Given the description of an element on the screen output the (x, y) to click on. 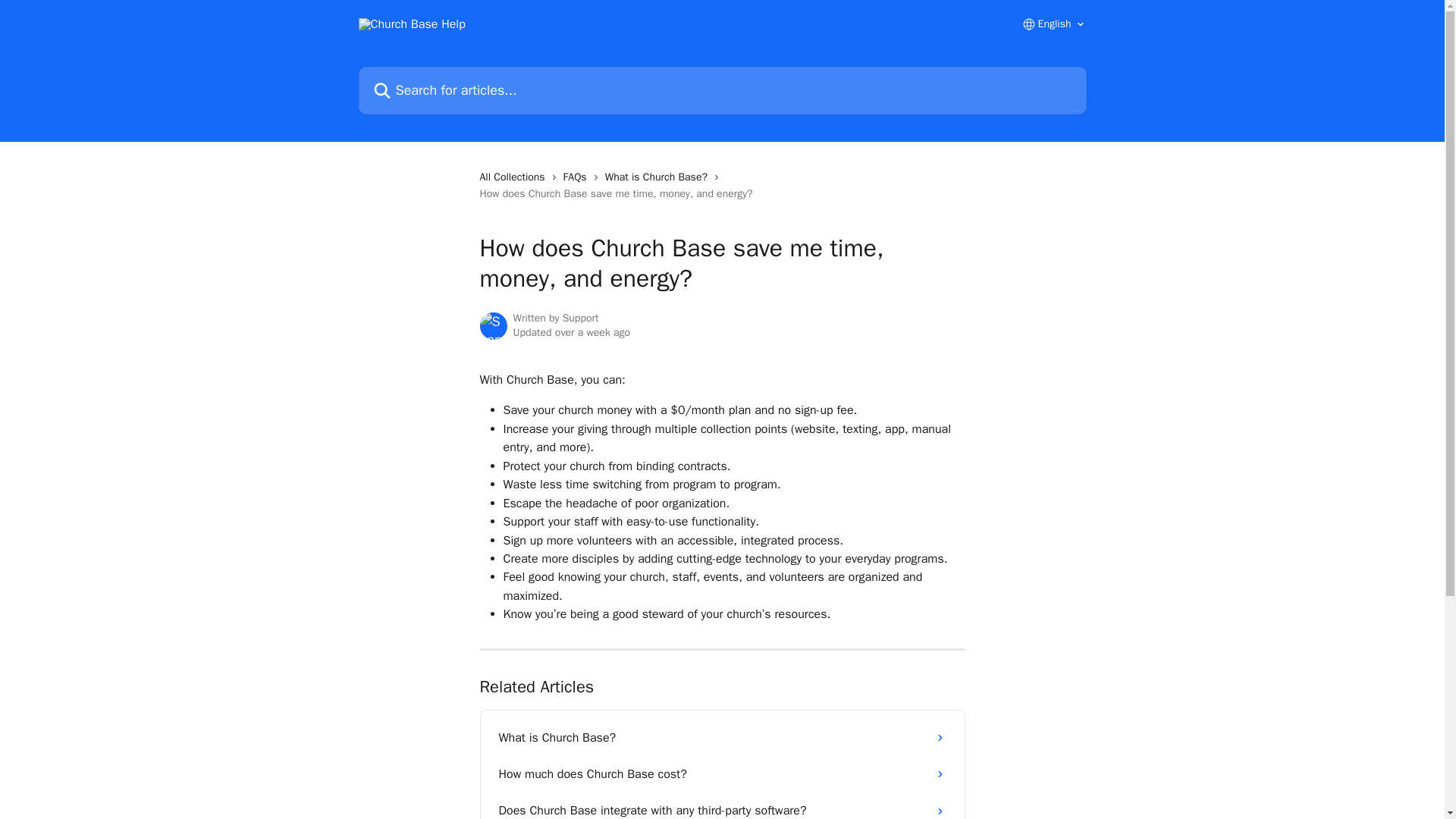
What is Church Base? (659, 176)
How much does Church Base cost? (722, 773)
All Collections (514, 176)
What is Church Base? (722, 737)
Does Church Base integrate with any third-party software? (722, 805)
FAQs (577, 176)
